Given the description of an element on the screen output the (x, y) to click on. 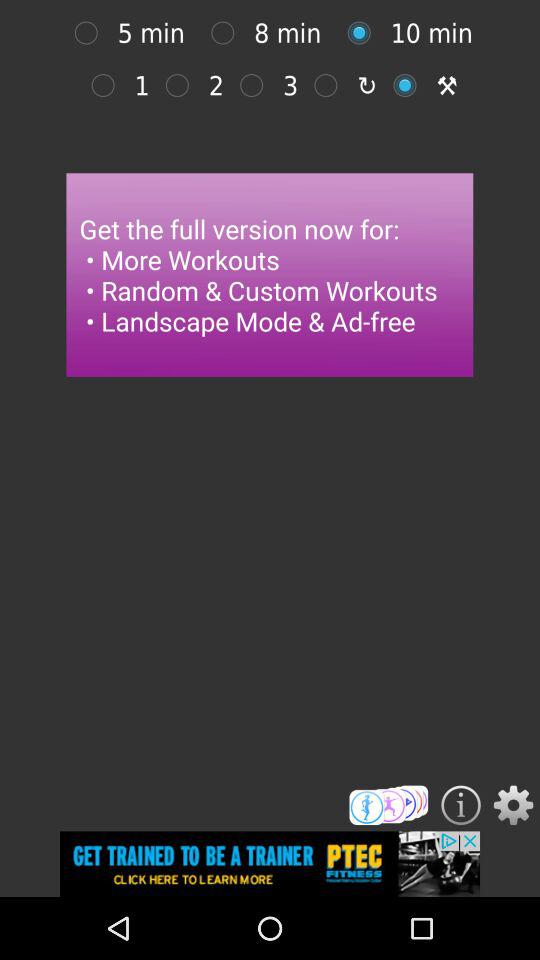
10 minutes (364, 32)
